Given the description of an element on the screen output the (x, y) to click on. 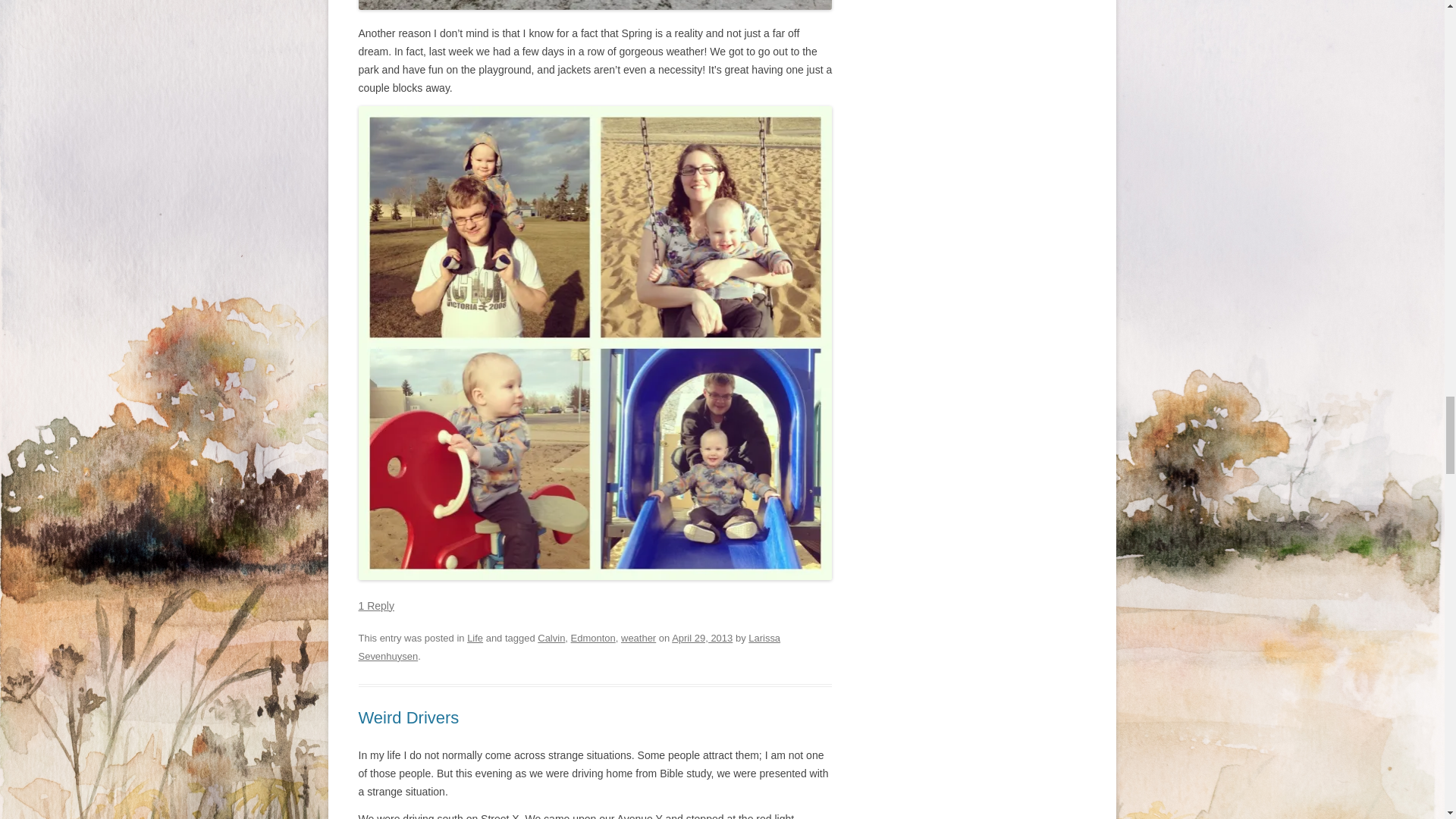
Edmonton (592, 637)
1 Reply (375, 605)
Weird Drivers (408, 717)
Calvin (550, 637)
Permalink to Weird Drivers (408, 717)
weather (638, 637)
April 29, 2013 (701, 637)
View all posts by Larissa Sevenhuysen (569, 646)
Life (475, 637)
Larissa Sevenhuysen (569, 646)
12:41 pm (701, 637)
